Given the description of an element on the screen output the (x, y) to click on. 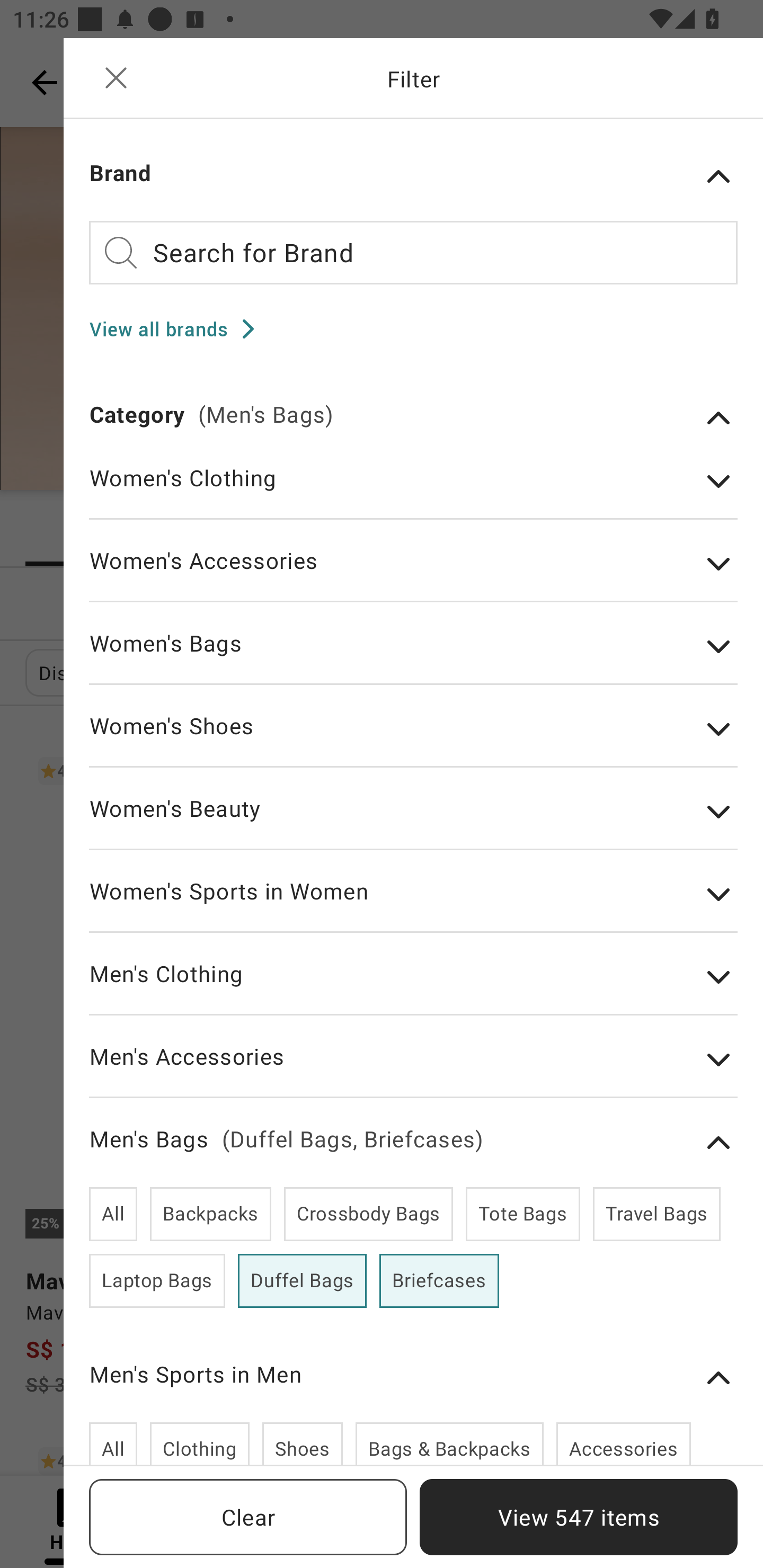
Brand (413, 176)
Search for Brand (413, 252)
View all brands (177, 328)
Category (Men's Bags) (413, 417)
Women's Clothing (413, 490)
Women's Accessories (413, 573)
Women's Bags (413, 656)
Women's Shoes (413, 739)
Women's Beauty (413, 821)
Women's Sports in Women (413, 903)
Men's Clothing (413, 987)
Men's Accessories (413, 1069)
Men's Bags (Duffel Bags, Briefcases) (413, 1142)
All (113, 1213)
Backpacks (210, 1213)
Crossbody Bags (368, 1213)
Tote Bags (522, 1213)
Travel Bags (656, 1213)
Laptop Bags (157, 1280)
Duffel Bags (302, 1280)
Briefcases (439, 1280)
Men's Sports in Men (413, 1378)
All (113, 1443)
Clothing (199, 1443)
Shoes (302, 1443)
Bags & Backpacks (449, 1443)
Accessories (623, 1443)
Clear (247, 1516)
View 547 items (578, 1516)
